Given the description of an element on the screen output the (x, y) to click on. 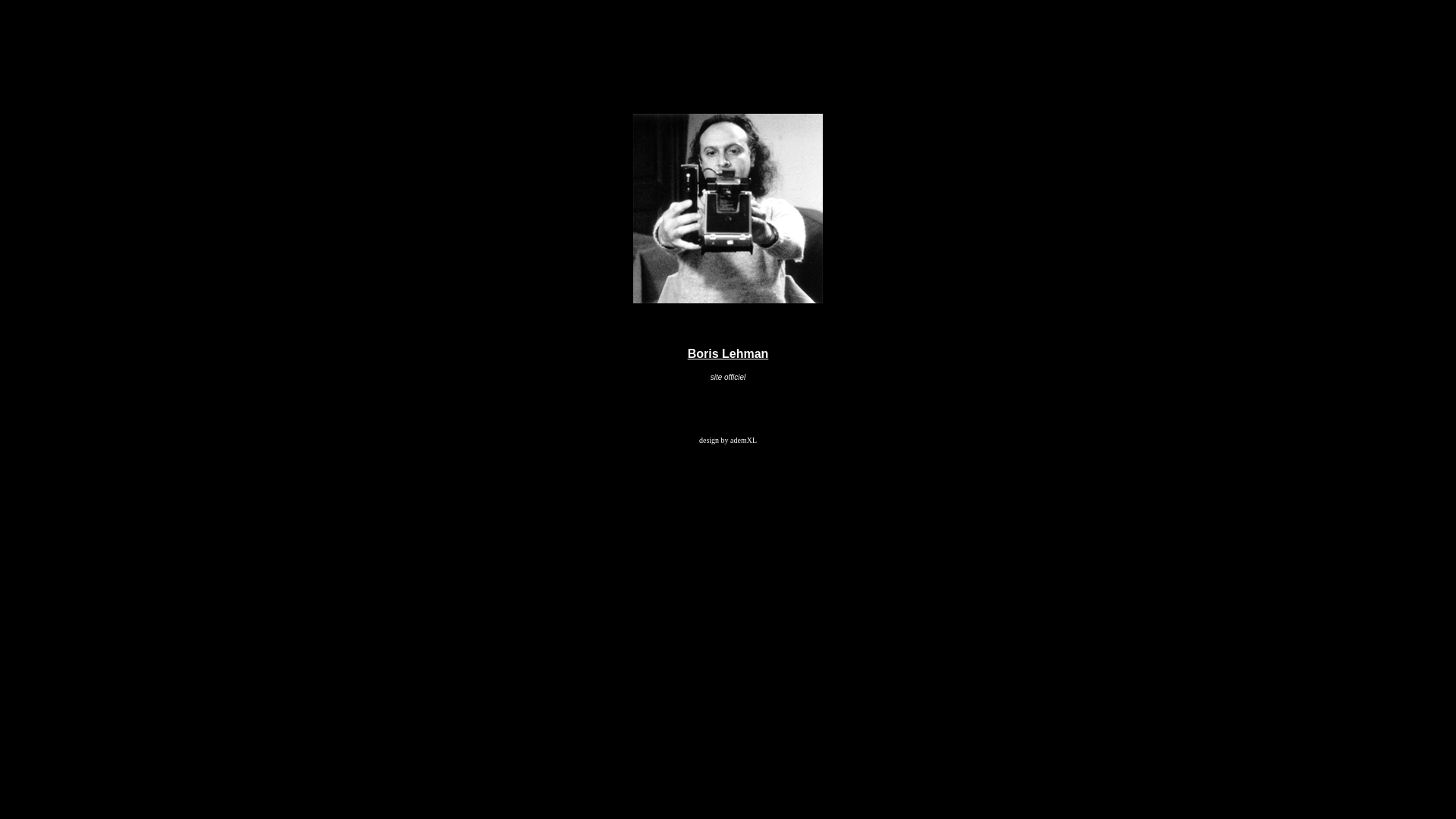
Boris Lehman Element type: text (727, 353)
